Given the description of an element on the screen output the (x, y) to click on. 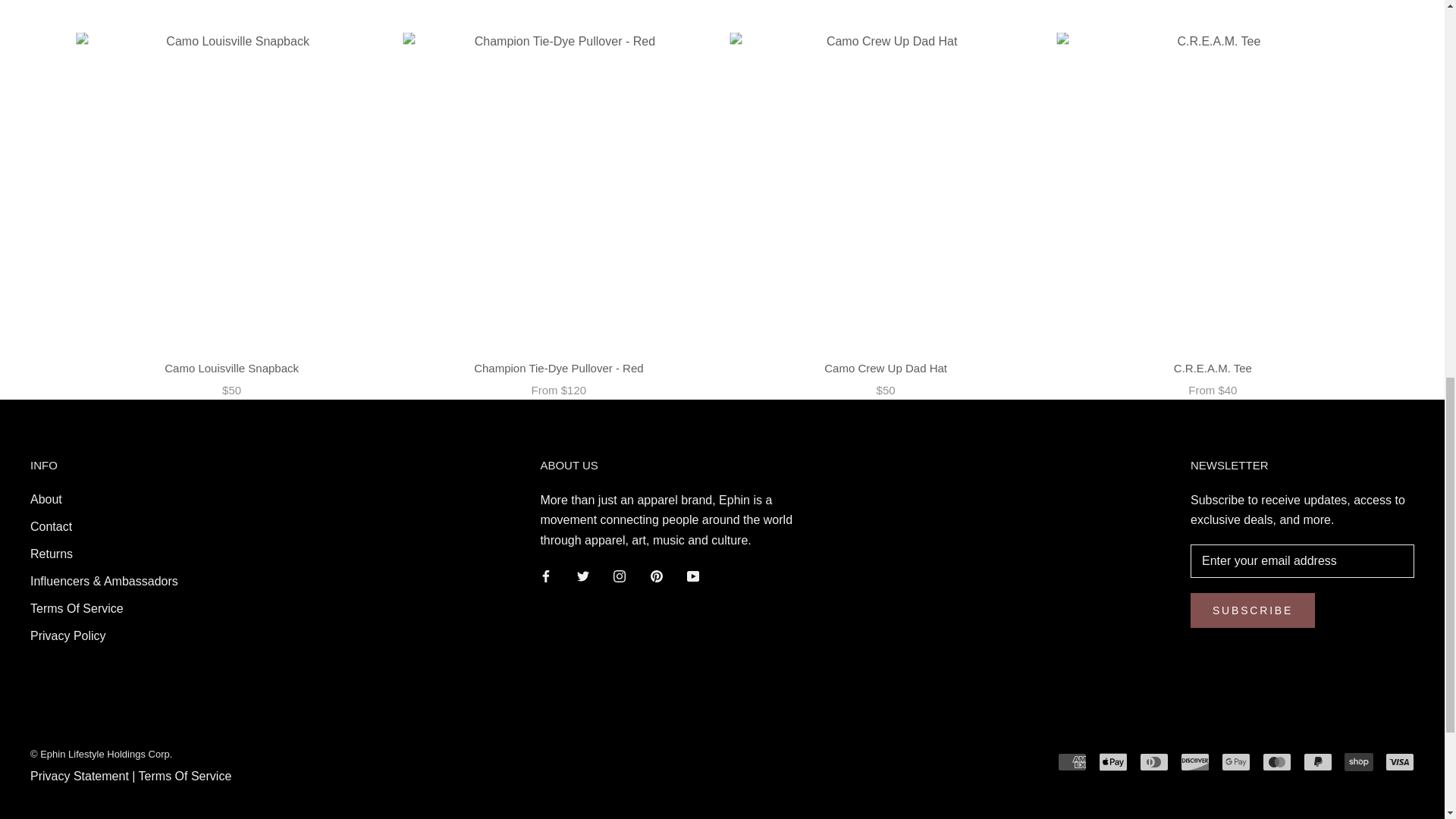
PayPal (1317, 761)
Google Pay (1235, 761)
Apple Pay (1112, 761)
Visa (1399, 761)
Discover (1194, 761)
American Express (1072, 761)
Shop Pay (1358, 761)
Mastercard (1276, 761)
Diners Club (1154, 761)
